Given the description of an element on the screen output the (x, y) to click on. 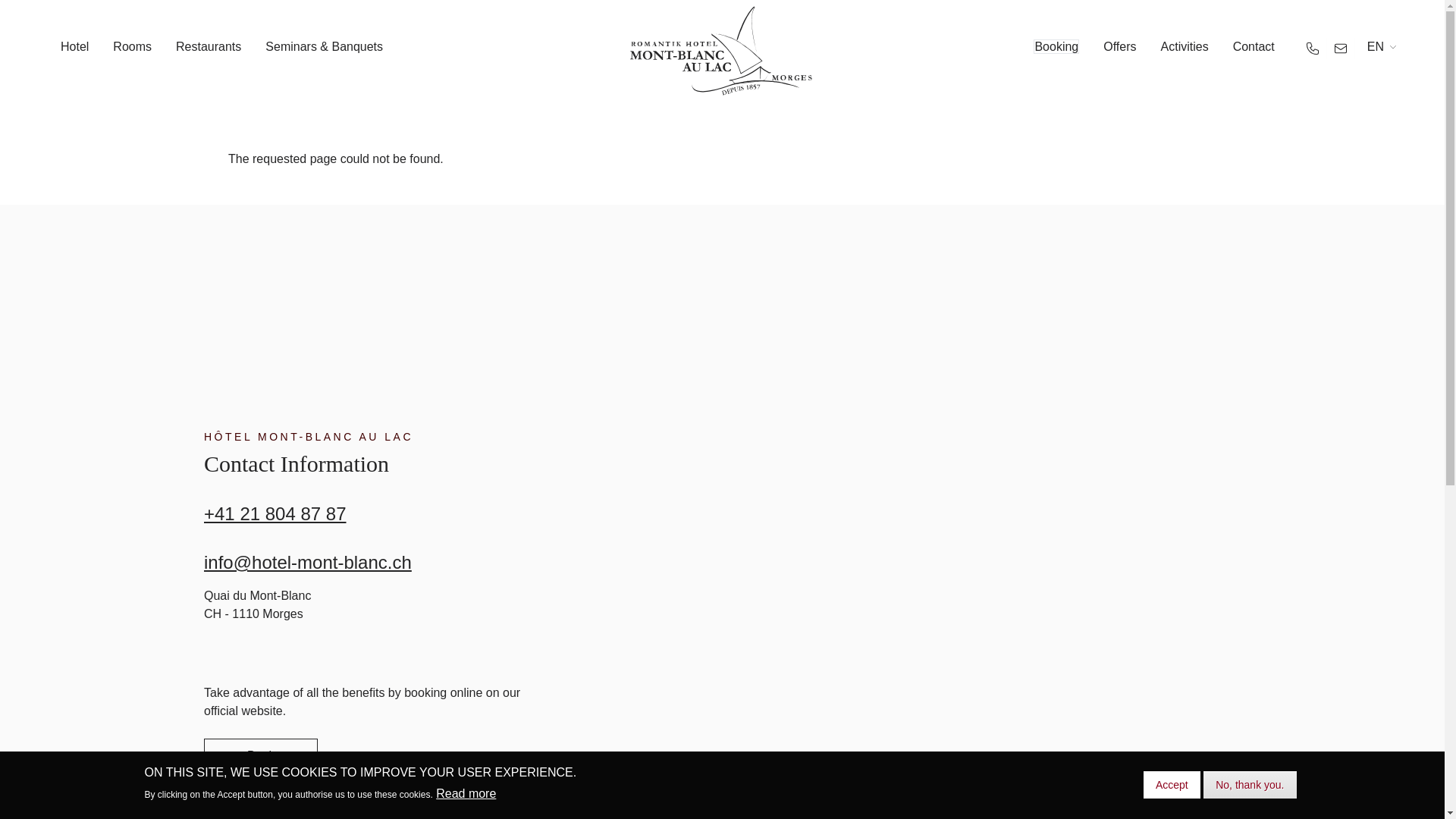
Restaurants (208, 46)
EN (1375, 46)
Hotel (74, 46)
Book (260, 755)
Activities (1184, 46)
Booking (1055, 46)
Offers (1119, 46)
Rooms (132, 46)
Rooms (257, 603)
